Given the description of an element on the screen output the (x, y) to click on. 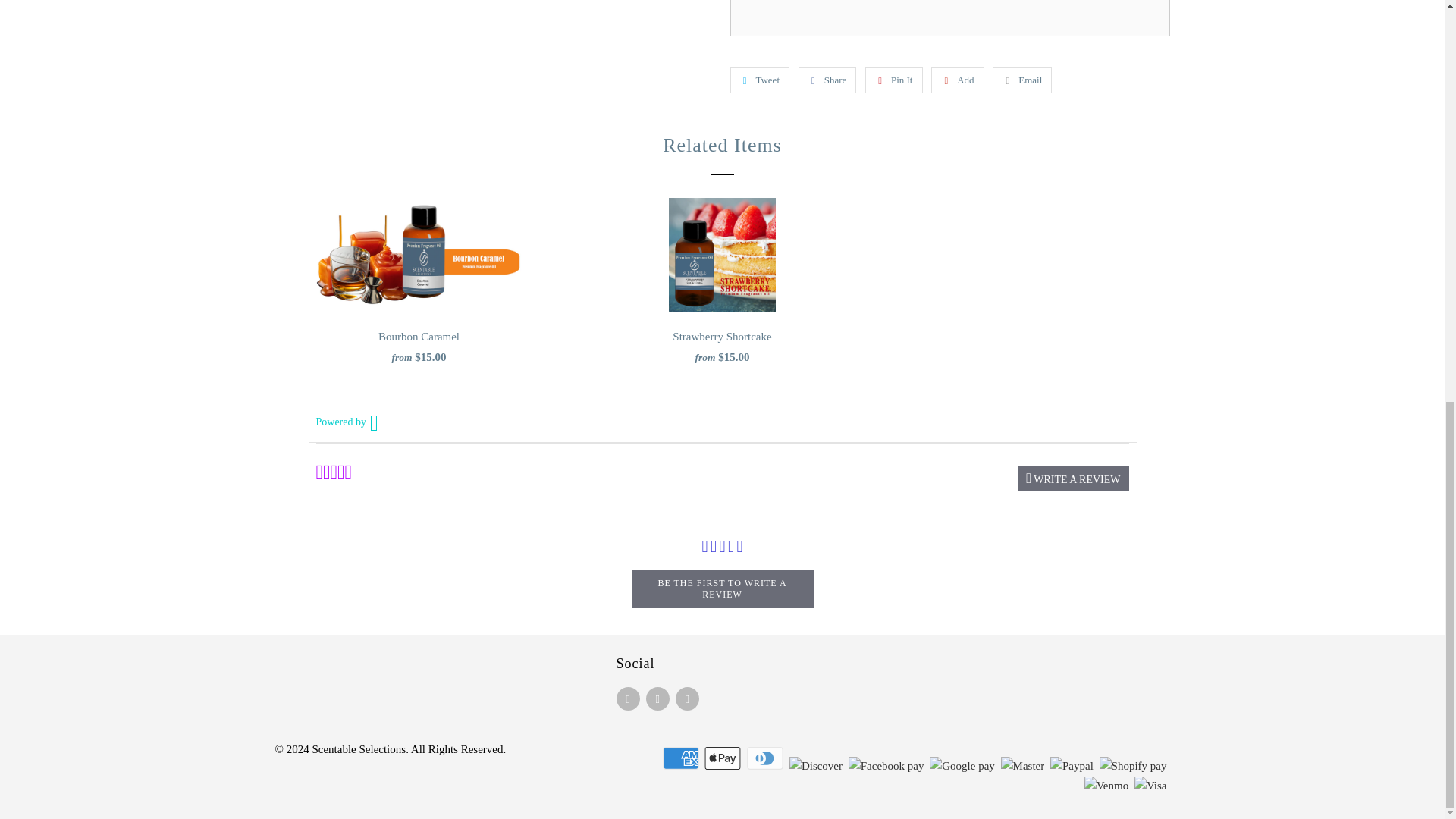
Share (827, 80)
Share this on Pinterest (892, 80)
Share this on Twitter (759, 80)
Email this to a friend (1021, 80)
Pin It (892, 80)
Add (957, 80)
Tweet (759, 80)
Email (1021, 80)
Share this on Facebook (827, 80)
